Given the description of an element on the screen output the (x, y) to click on. 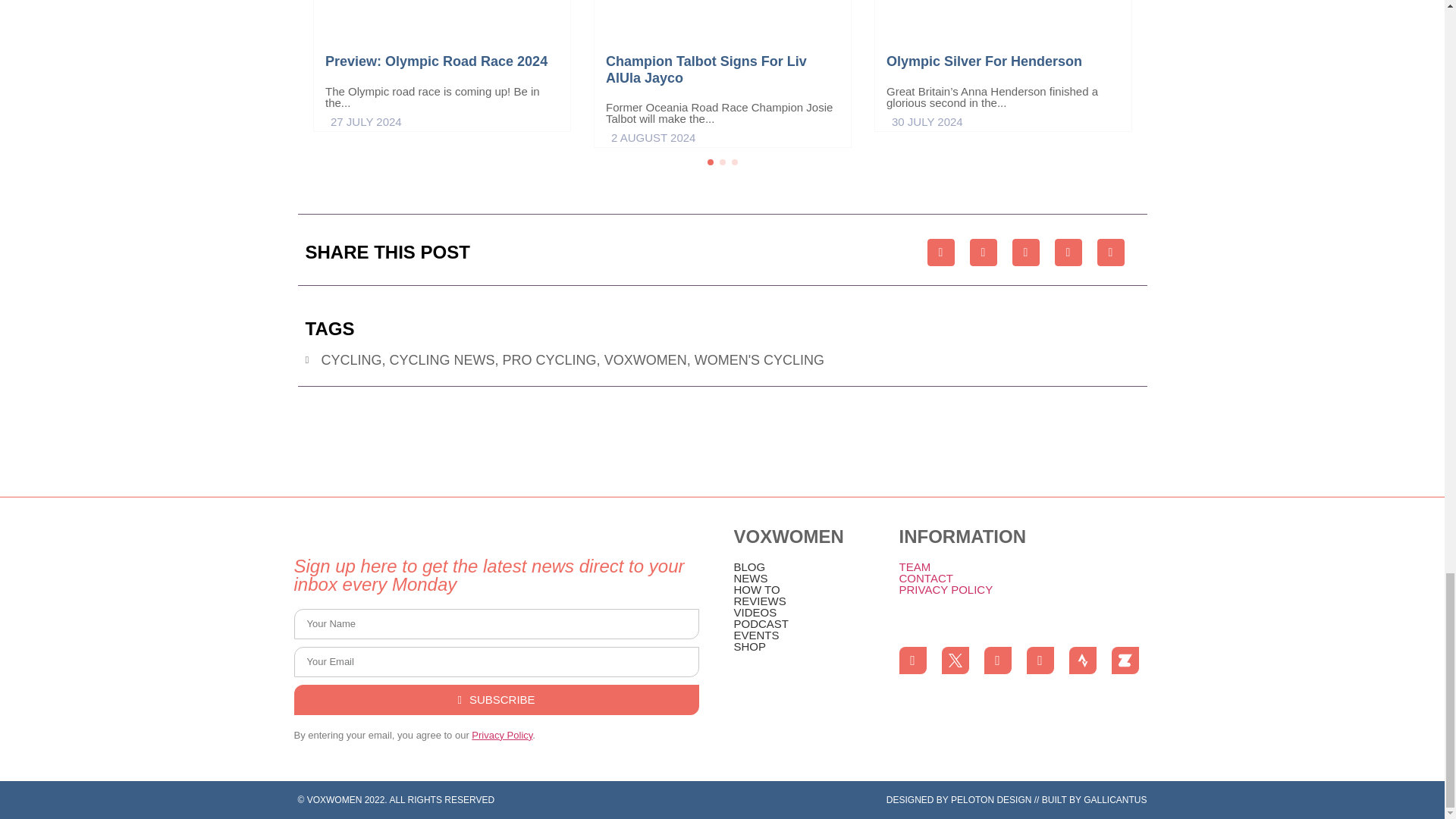
Champion Talbot Signs For Liv AlUla Jayco (705, 69)
Olympic Silver For Henderson (983, 60)
Preview: Olympic Road Race 2024 (435, 60)
